Given the description of an element on the screen output the (x, y) to click on. 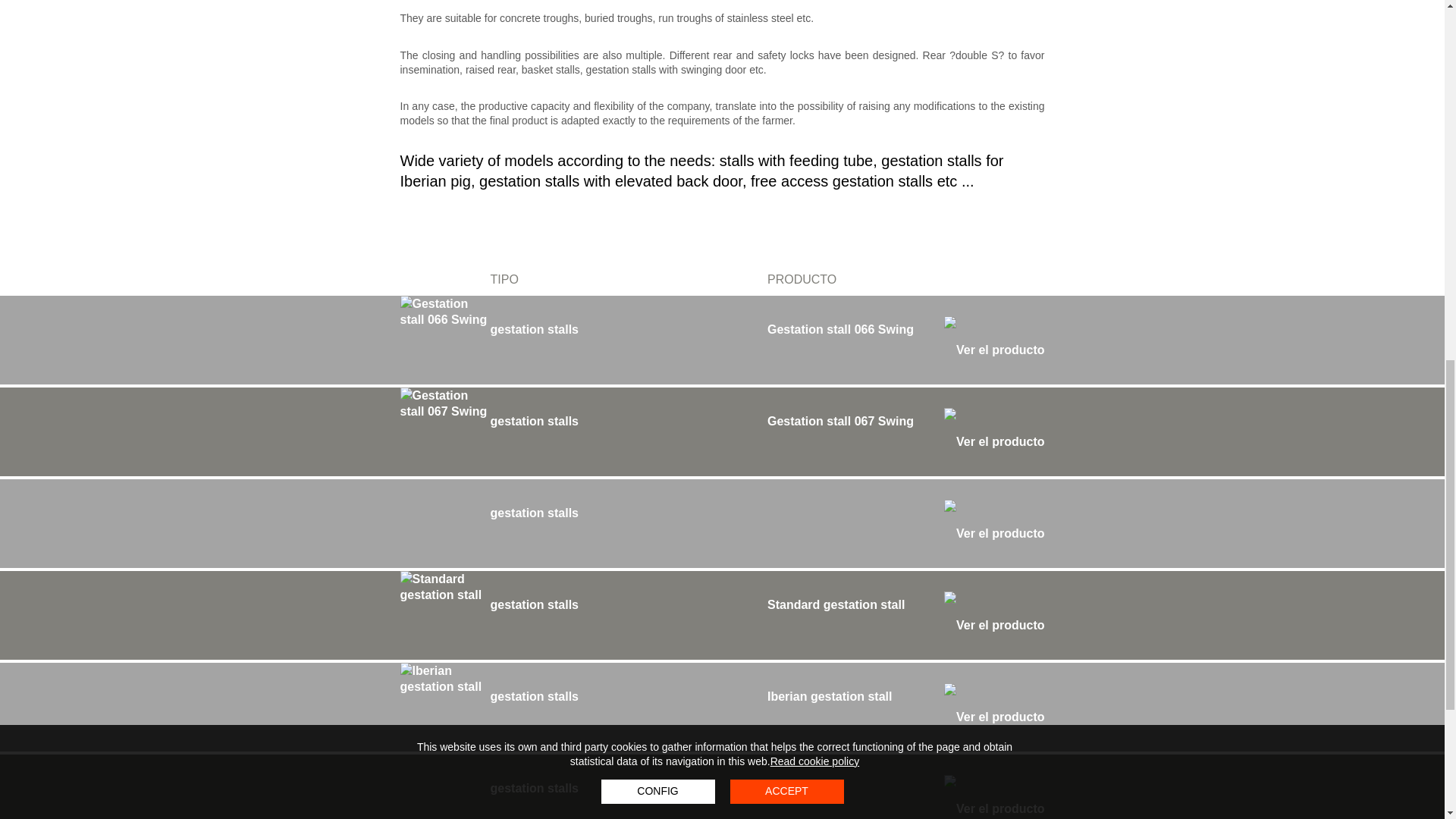
Gestation stall 066 Swing (906, 339)
Standard gestation stall (906, 615)
Gestation stall 067 Swing (906, 431)
Iberian gestation stall (906, 706)
